Given the description of an element on the screen output the (x, y) to click on. 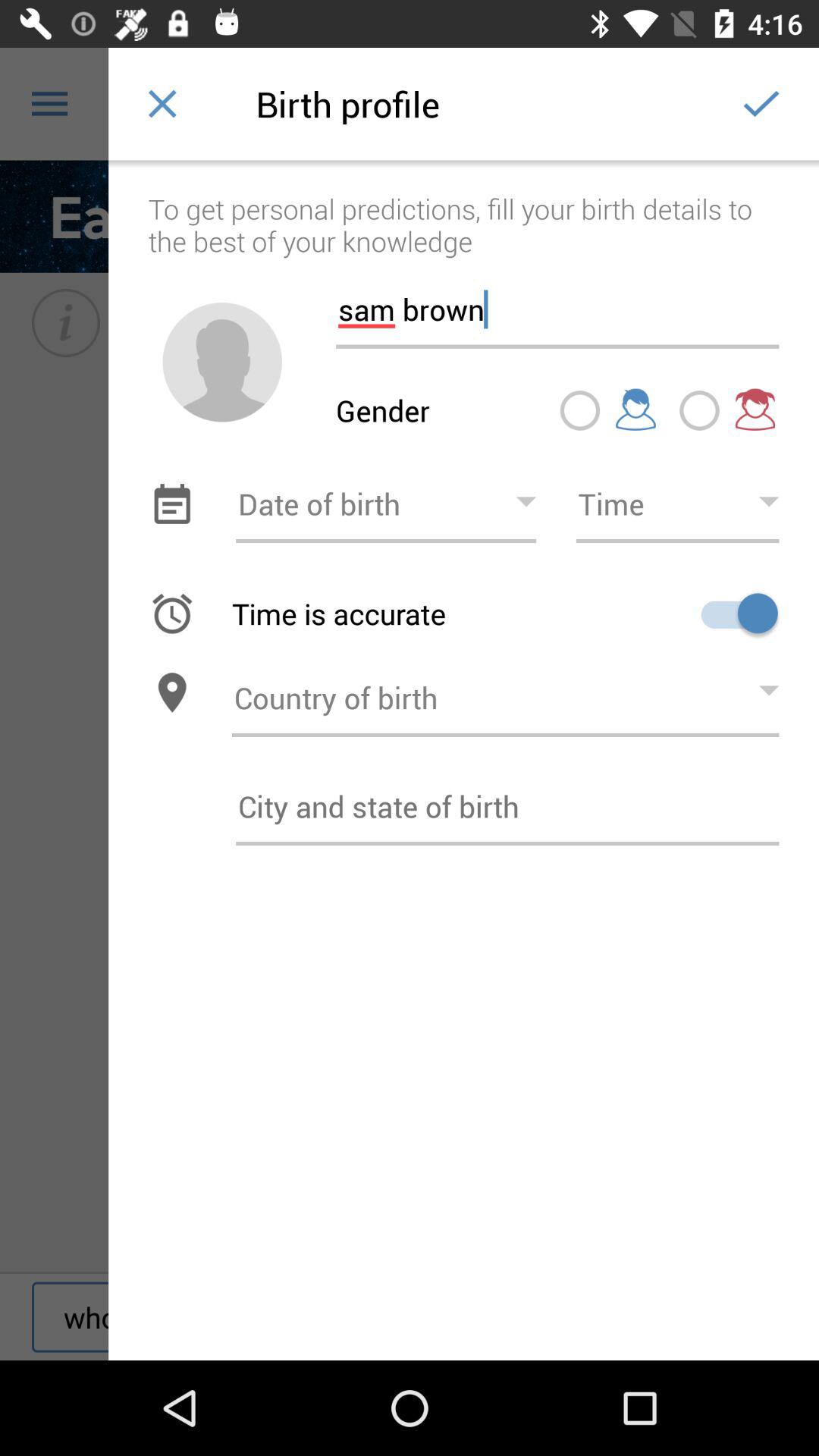
time (677, 503)
